Given the description of an element on the screen output the (x, y) to click on. 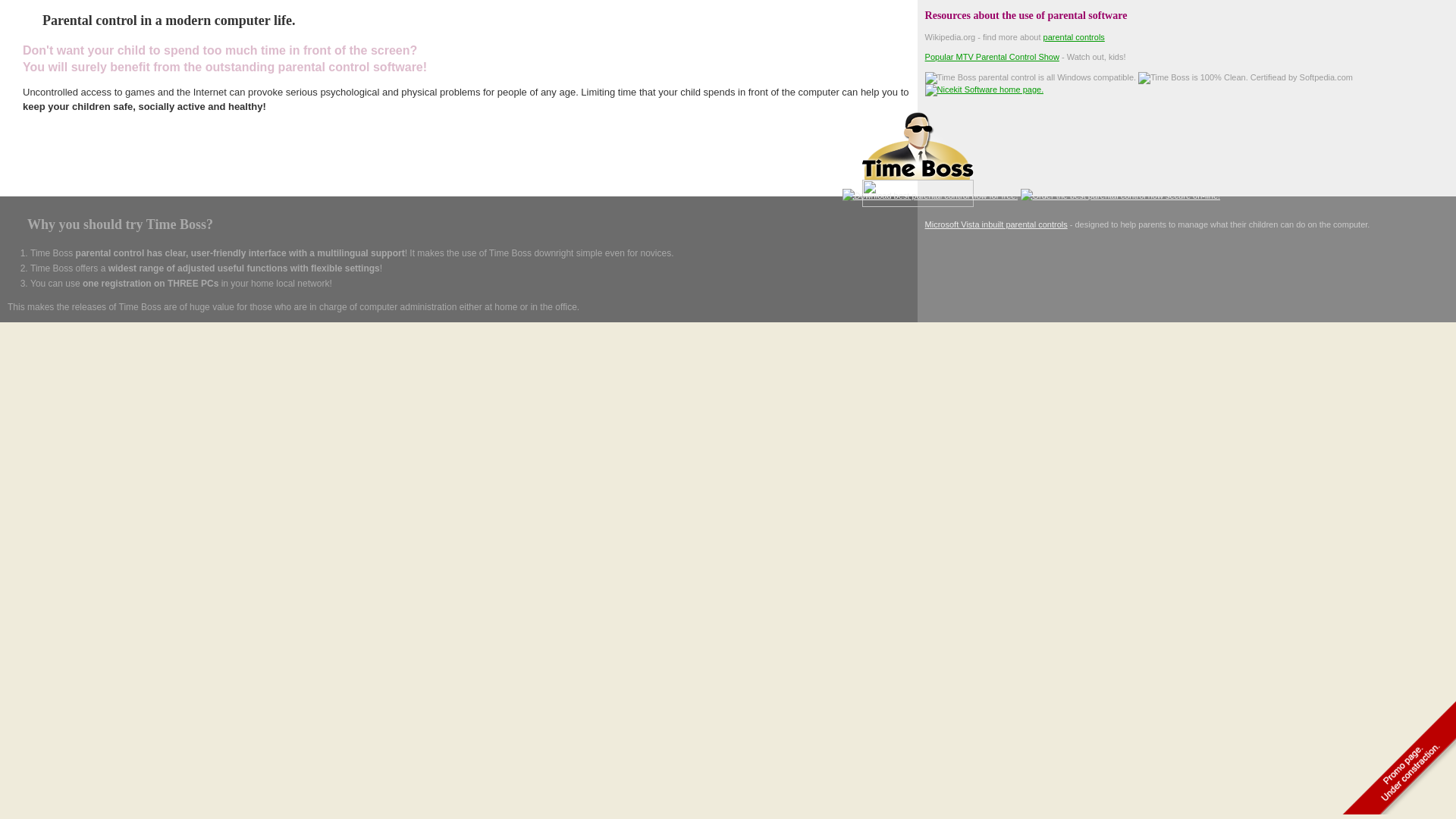
Microsoft Vista inbuilt parental controls (995, 224)
monitoring software (135, 166)
internet addiction (384, 166)
home parental control (51, 166)
healing computer addictions (230, 166)
parental controls (1074, 36)
Popular MTV Parental Control Show (991, 56)
game addiction (317, 166)
